Given the description of an element on the screen output the (x, y) to click on. 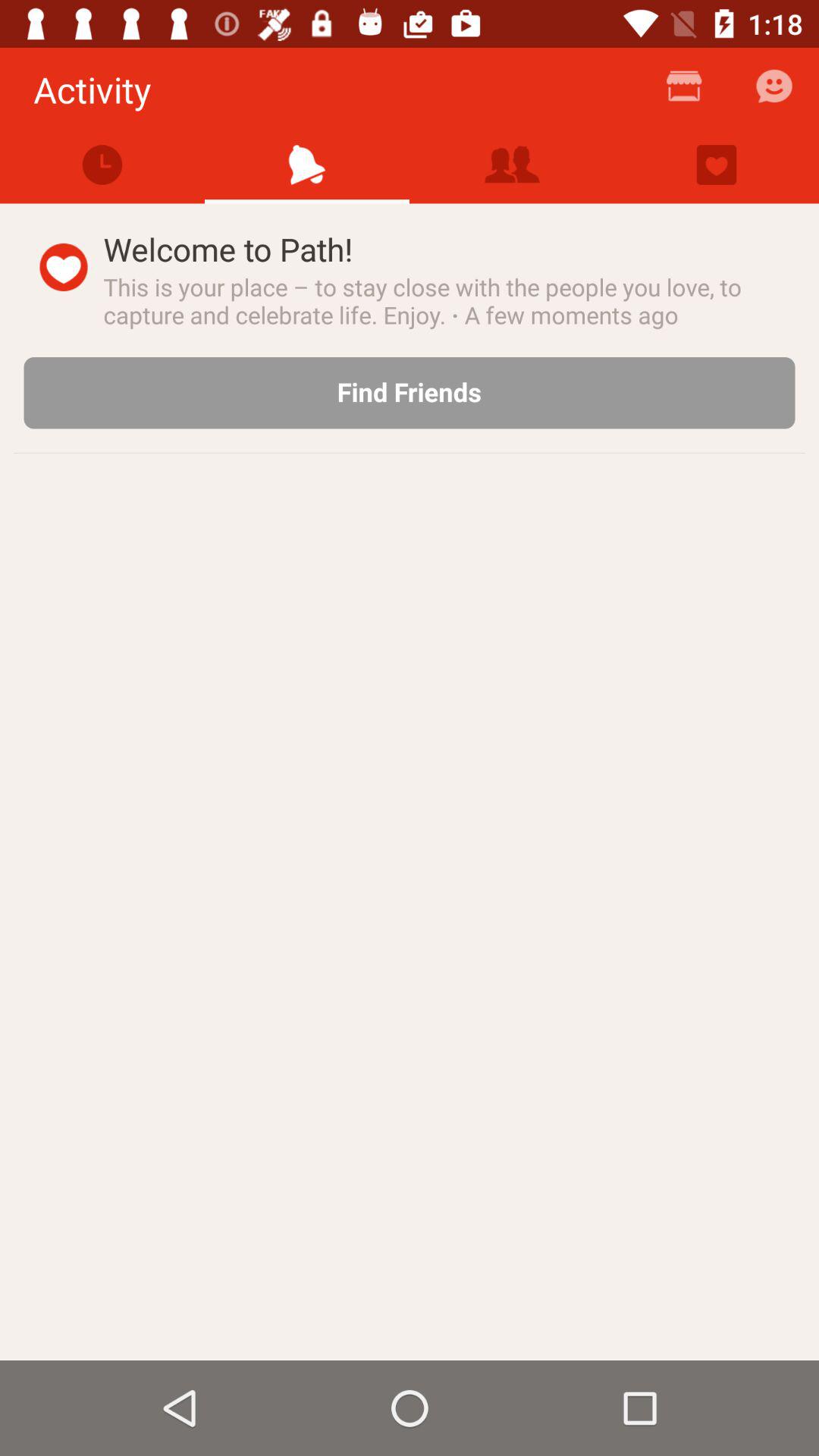
choose the icon next to the activity (684, 92)
